Given the description of an element on the screen output the (x, y) to click on. 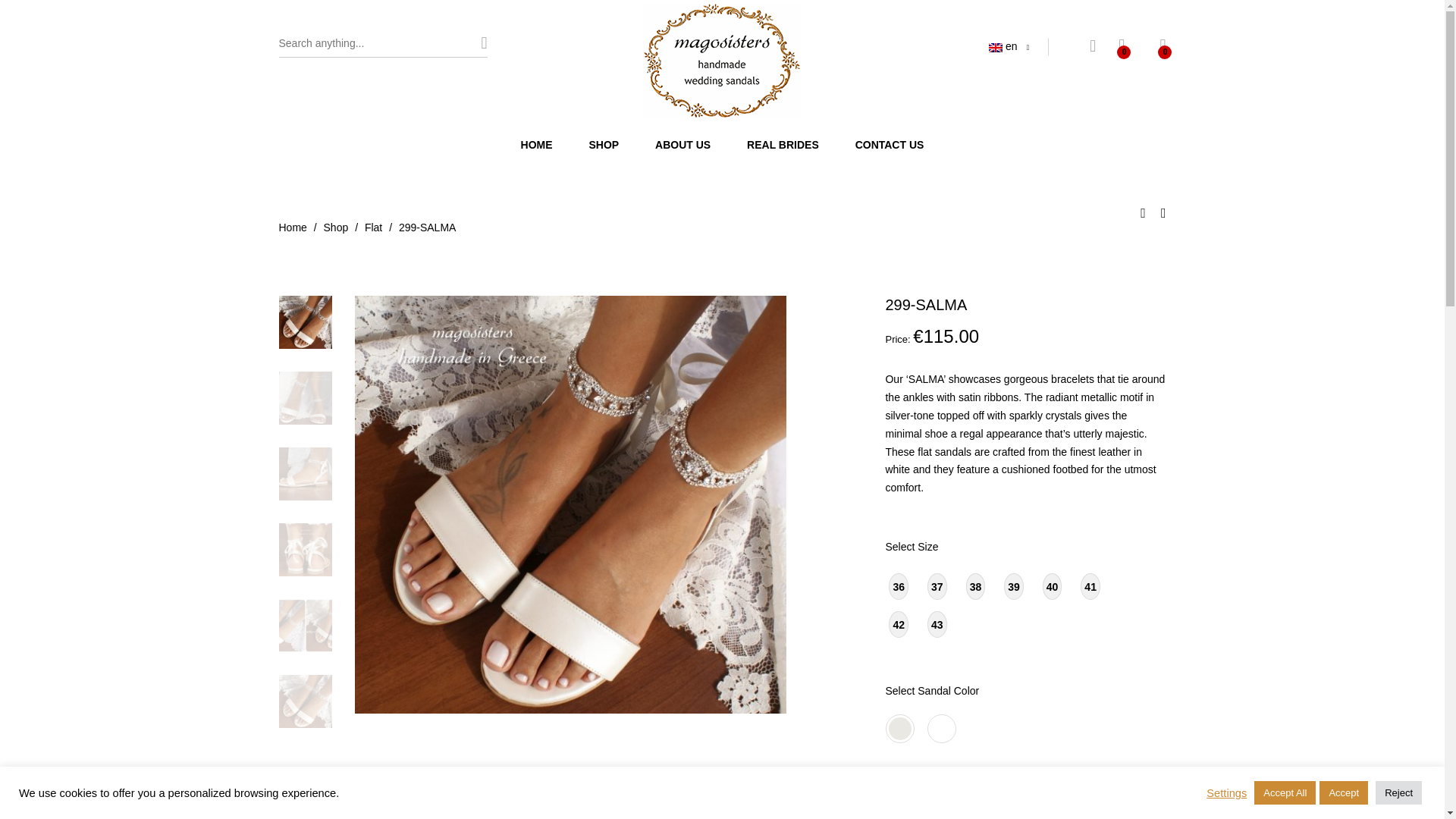
Instagram (1313, 691)
SHOP (603, 144)
1 (930, 816)
ABOUT US (682, 144)
Qty (930, 816)
Add to cart (1077, 816)
0 (1121, 46)
CONTACT US (890, 144)
Facebook (1280, 691)
Shop (336, 227)
0 (1162, 46)
HOME (537, 144)
Home (293, 227)
REAL BRIDES (782, 144)
Flat (373, 227)
